Given the description of an element on the screen output the (x, y) to click on. 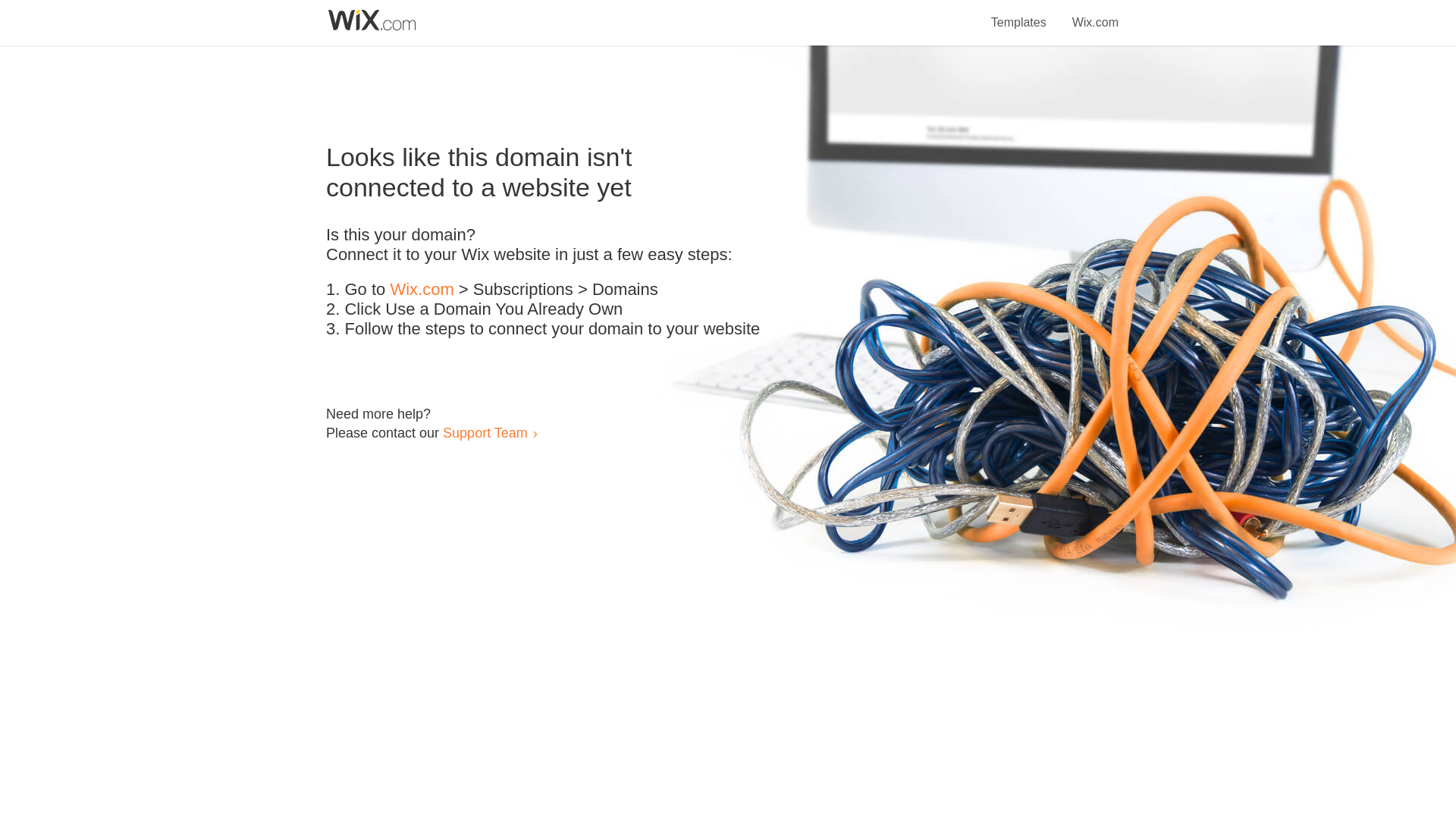
Wix.com (421, 289)
Support Team (484, 432)
Wix.com (1095, 14)
Templates (1018, 14)
